Given the description of an element on the screen output the (x, y) to click on. 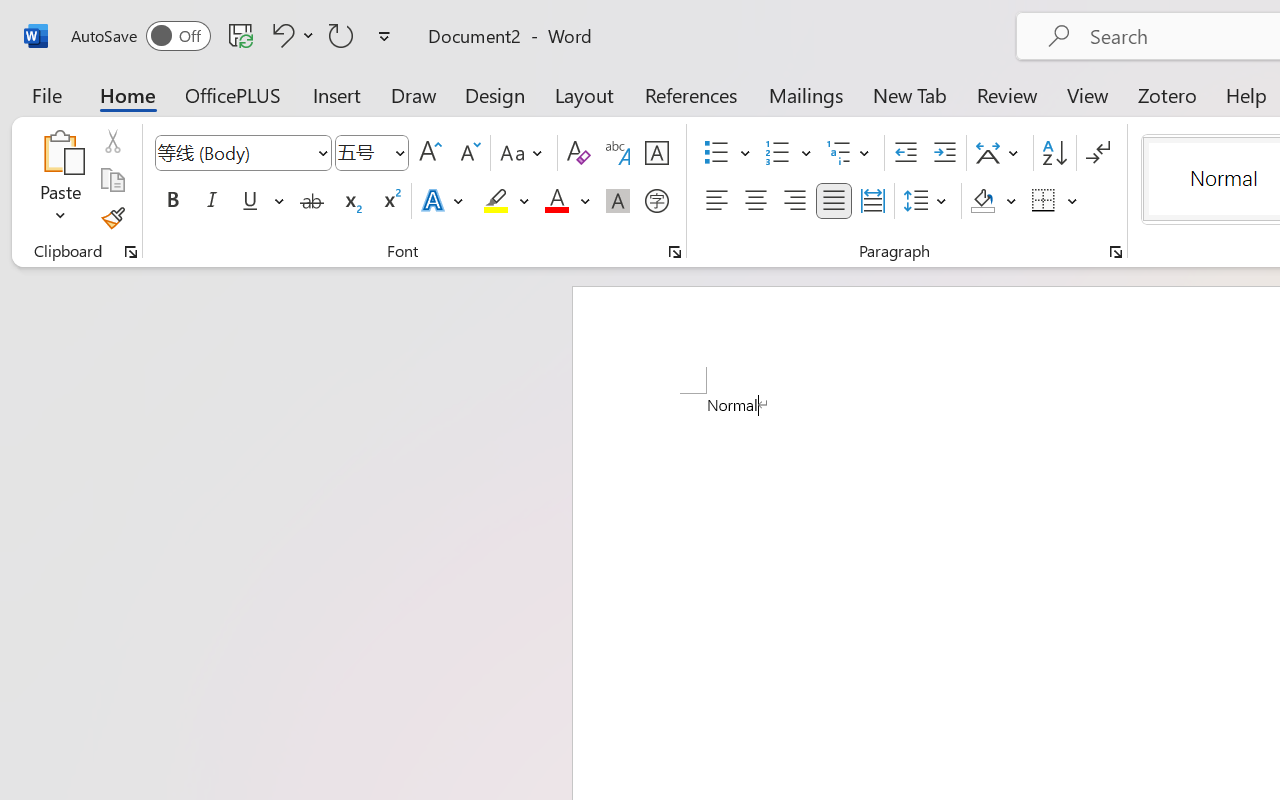
Save (241, 35)
Review (1007, 94)
Decrease Indent (906, 153)
Font Color Red (556, 201)
Bold (172, 201)
Subscript (350, 201)
Character Border (656, 153)
Home (127, 94)
Font (234, 152)
Change Case (524, 153)
Distributed (872, 201)
Justify (834, 201)
Text Highlight Color Yellow (495, 201)
Align Left (716, 201)
